Given the description of an element on the screen output the (x, y) to click on. 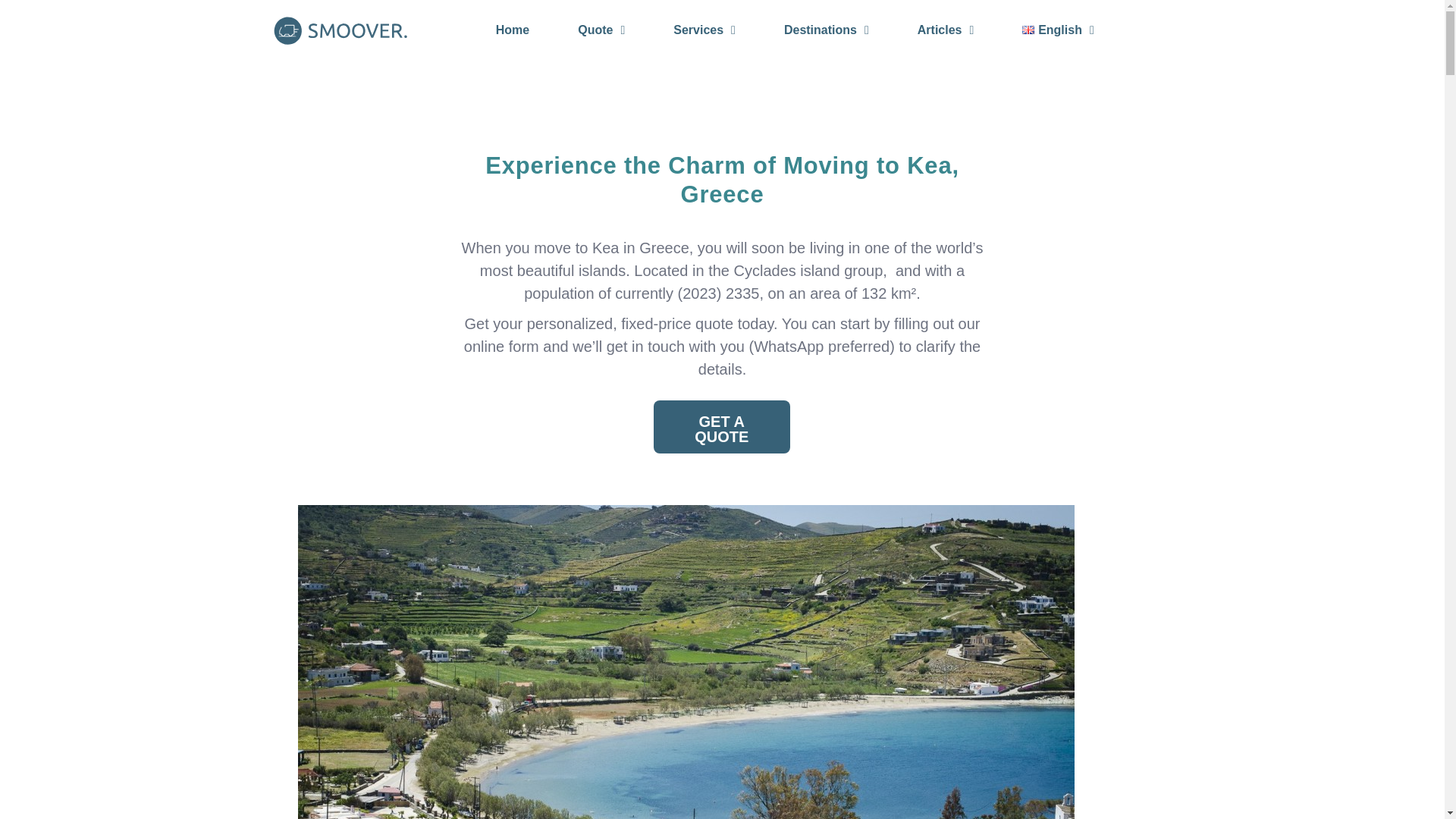
English (1057, 30)
Home (512, 30)
Services (704, 30)
Articles (945, 30)
Smoover Services (340, 30)
Quote (601, 30)
Destinations (826, 30)
